Given the description of an element on the screen output the (x, y) to click on. 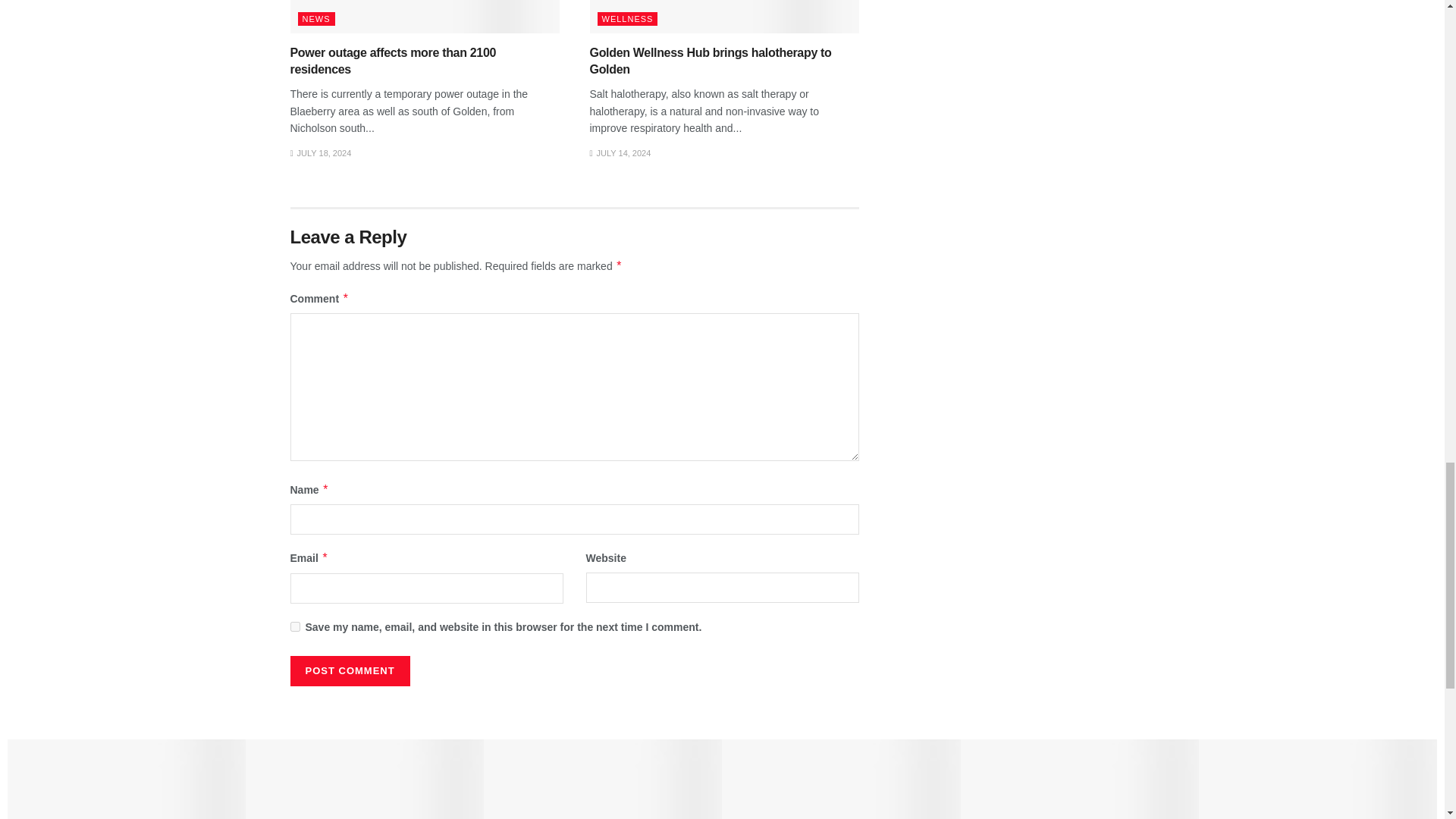
yes (294, 626)
3rd party ad content (1023, 98)
Post Comment (349, 671)
